Given the description of an element on the screen output the (x, y) to click on. 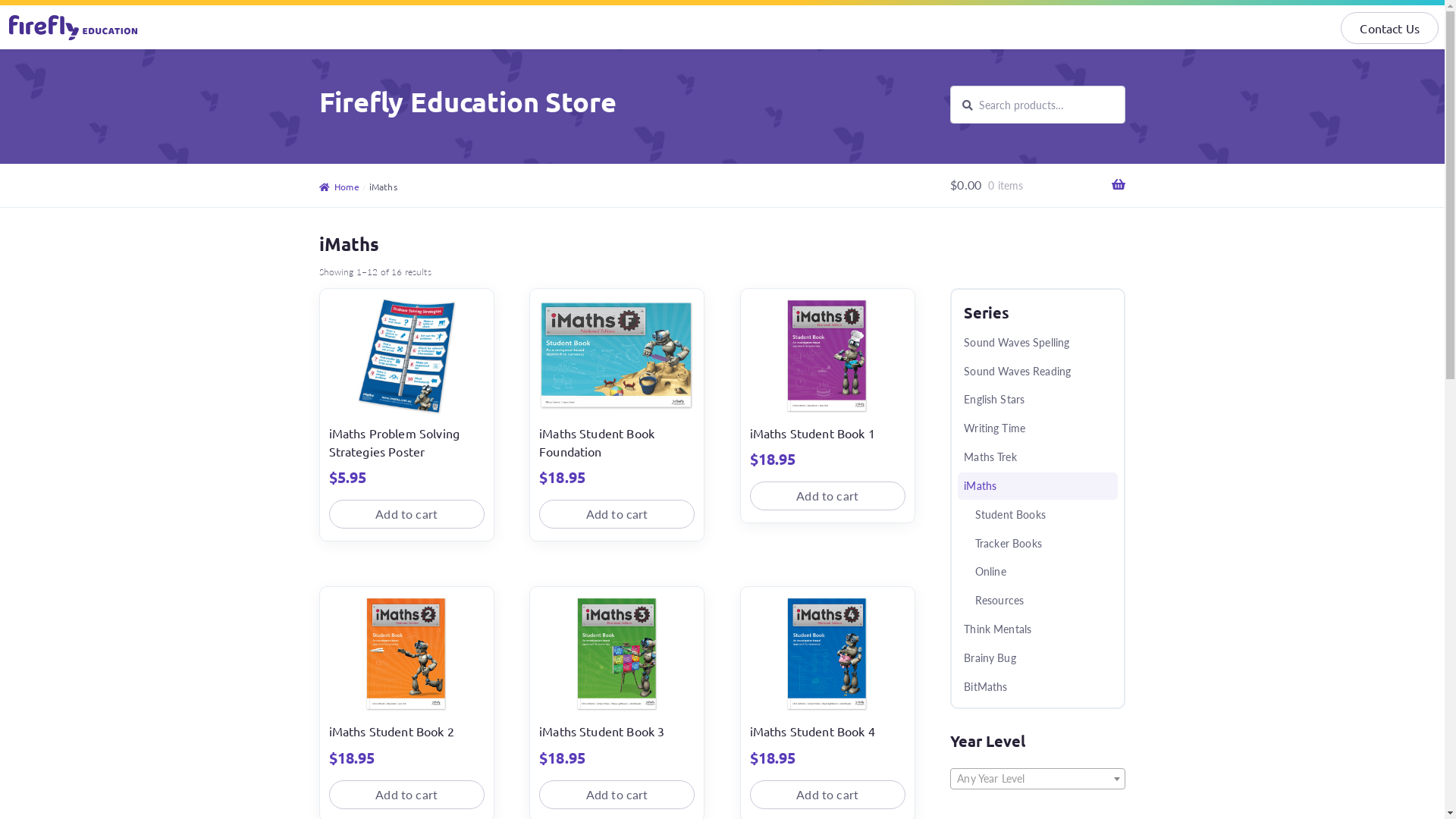
BitMaths Element type: text (1037, 686)
Add to cart Element type: text (827, 794)
English Stars Element type: text (1037, 399)
Add to cart Element type: text (406, 794)
iMaths Problem Solving Strategies Poster
$5.95 Element type: text (406, 393)
Skip to navigation Element type: text (318, 48)
iMaths Student Book 3
$18.95 Element type: text (616, 682)
Online Element type: text (1037, 571)
iMaths Element type: text (1037, 485)
Add to cart Element type: text (827, 495)
Brainy Bug Element type: text (1037, 657)
Add to cart Element type: text (616, 513)
Tracker Books Element type: text (1037, 542)
Writing Time Element type: text (1037, 428)
iMaths Student Book 4
$18.95 Element type: text (827, 682)
Think Mentals Element type: text (1037, 629)
Firefly Education Element type: text (74, 27)
Add to cart Element type: text (406, 513)
Search Element type: text (949, 84)
iMaths Student Book 1
$18.95 Element type: text (827, 384)
Student Books Element type: text (1037, 514)
iMaths Student Book 2
$18.95 Element type: text (406, 682)
iMaths Student Book Foundation
$18.95 Element type: text (616, 393)
Firefly Education Store Element type: text (467, 101)
$0.00 0 items Element type: text (1037, 185)
Add to cart Element type: text (616, 794)
Sound Waves Spelling Element type: text (1037, 342)
Home Element type: text (339, 186)
Maths Trek Element type: text (1037, 456)
Resources Element type: text (1037, 600)
Sound Waves Reading Element type: text (1037, 371)
Contact Us Element type: text (1389, 27)
